Given the description of an element on the screen output the (x, y) to click on. 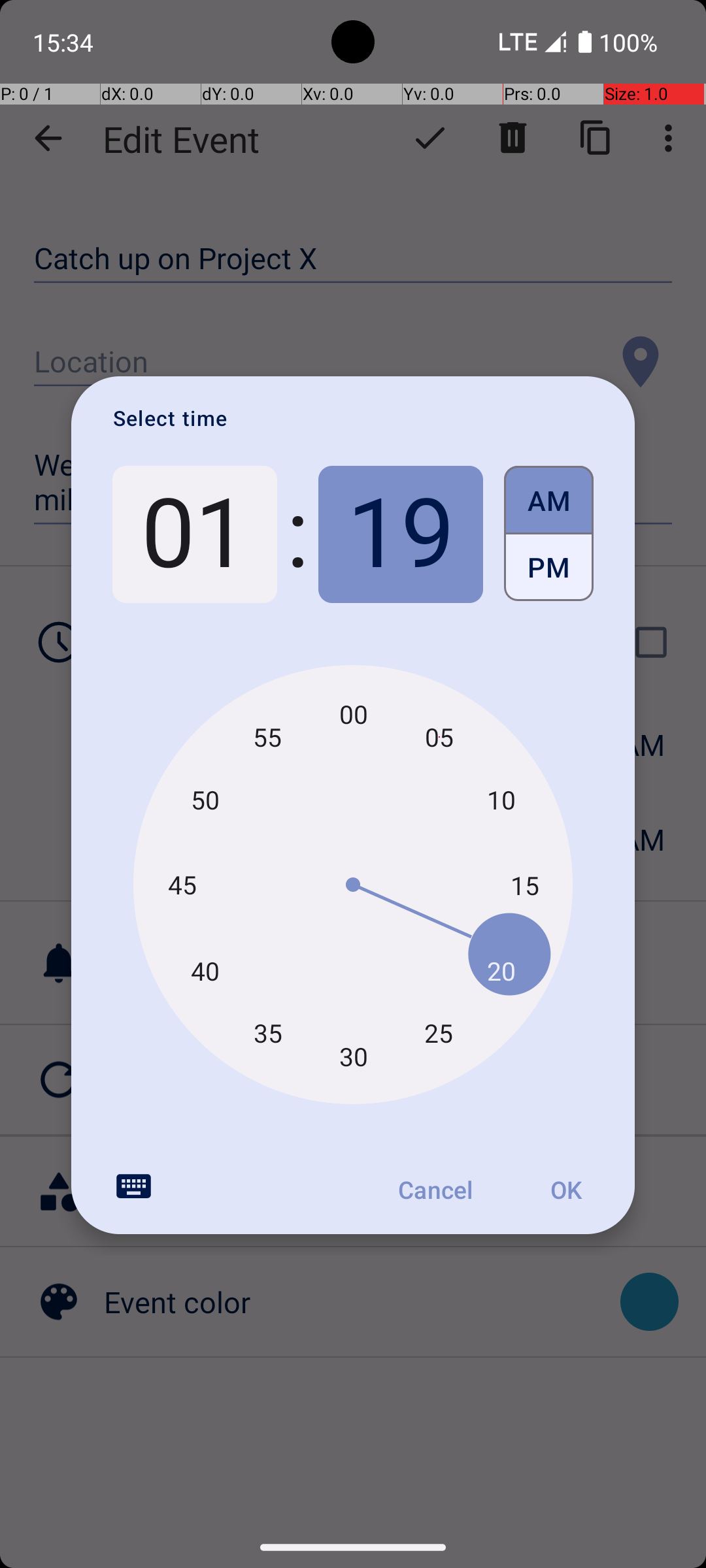
01 Element type: android.view.View (194, 534)
Select AM or PM Element type: android.widget.LinearLayout (548, 534)
